Given the description of an element on the screen output the (x, y) to click on. 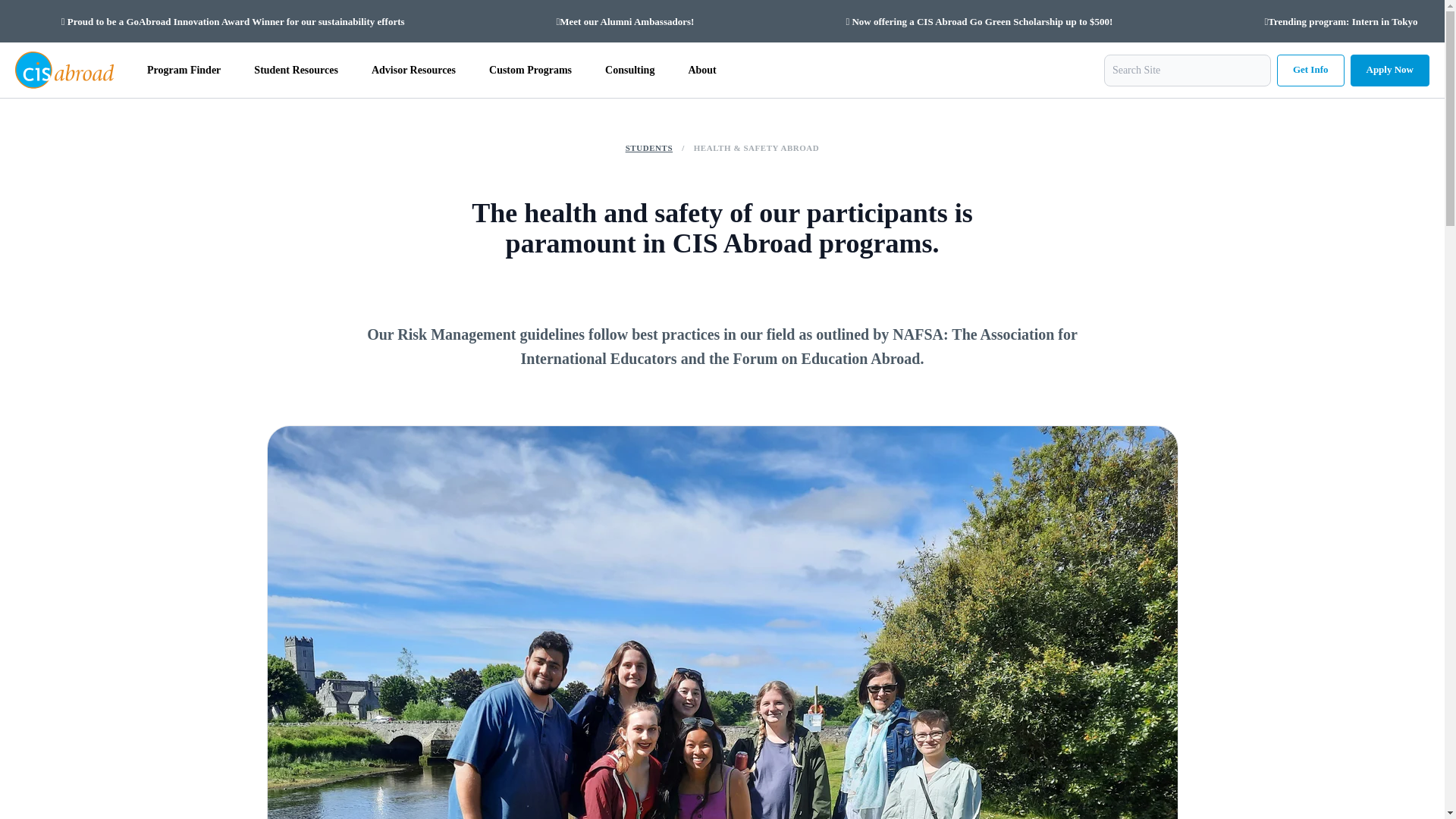
Program Finder (184, 69)
